Given the description of an element on the screen output the (x, y) to click on. 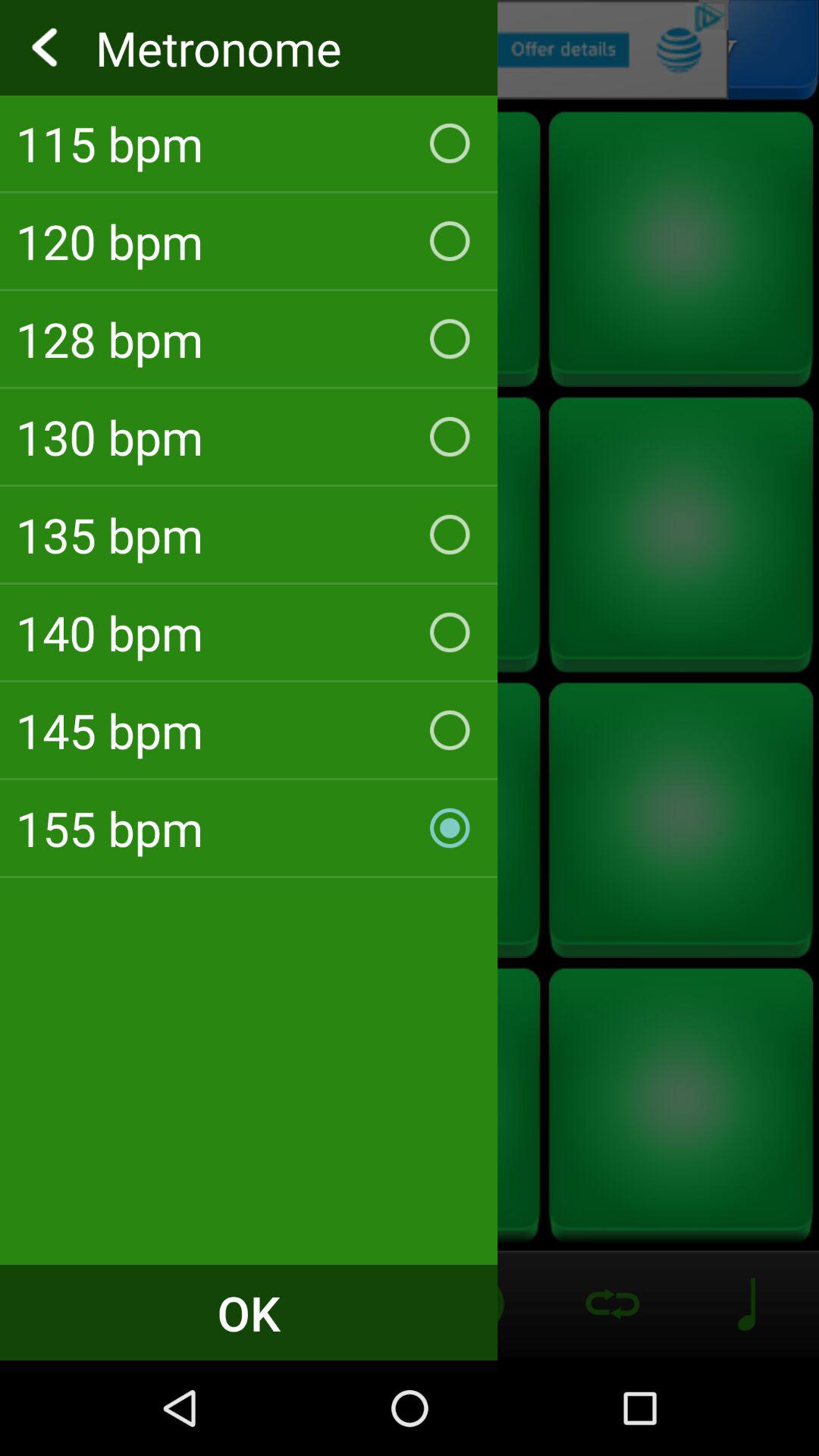
flip to the 120 bpm (248, 240)
